Given the description of an element on the screen output the (x, y) to click on. 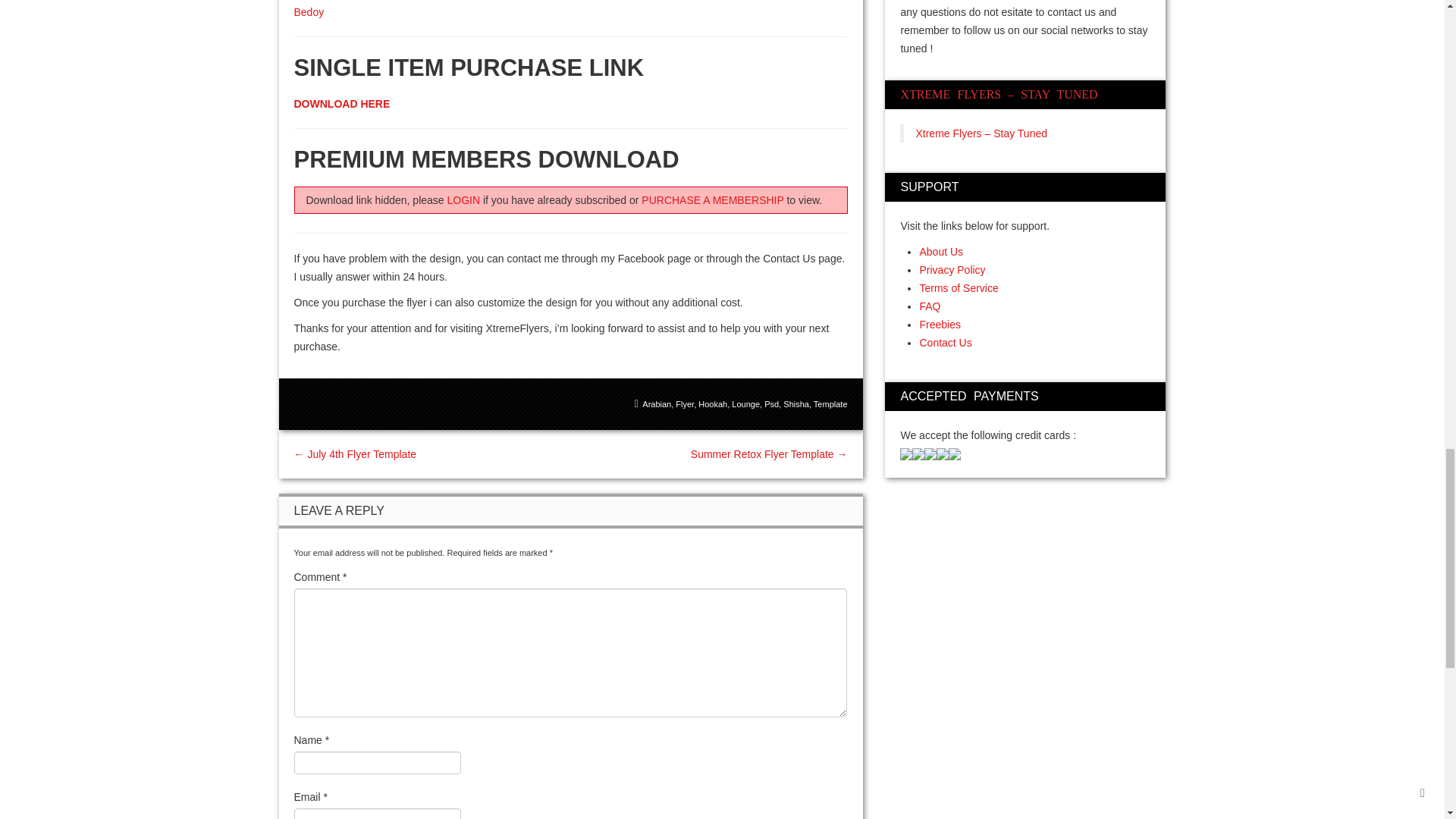
Tags (740, 403)
